Given the description of an element on the screen output the (x, y) to click on. 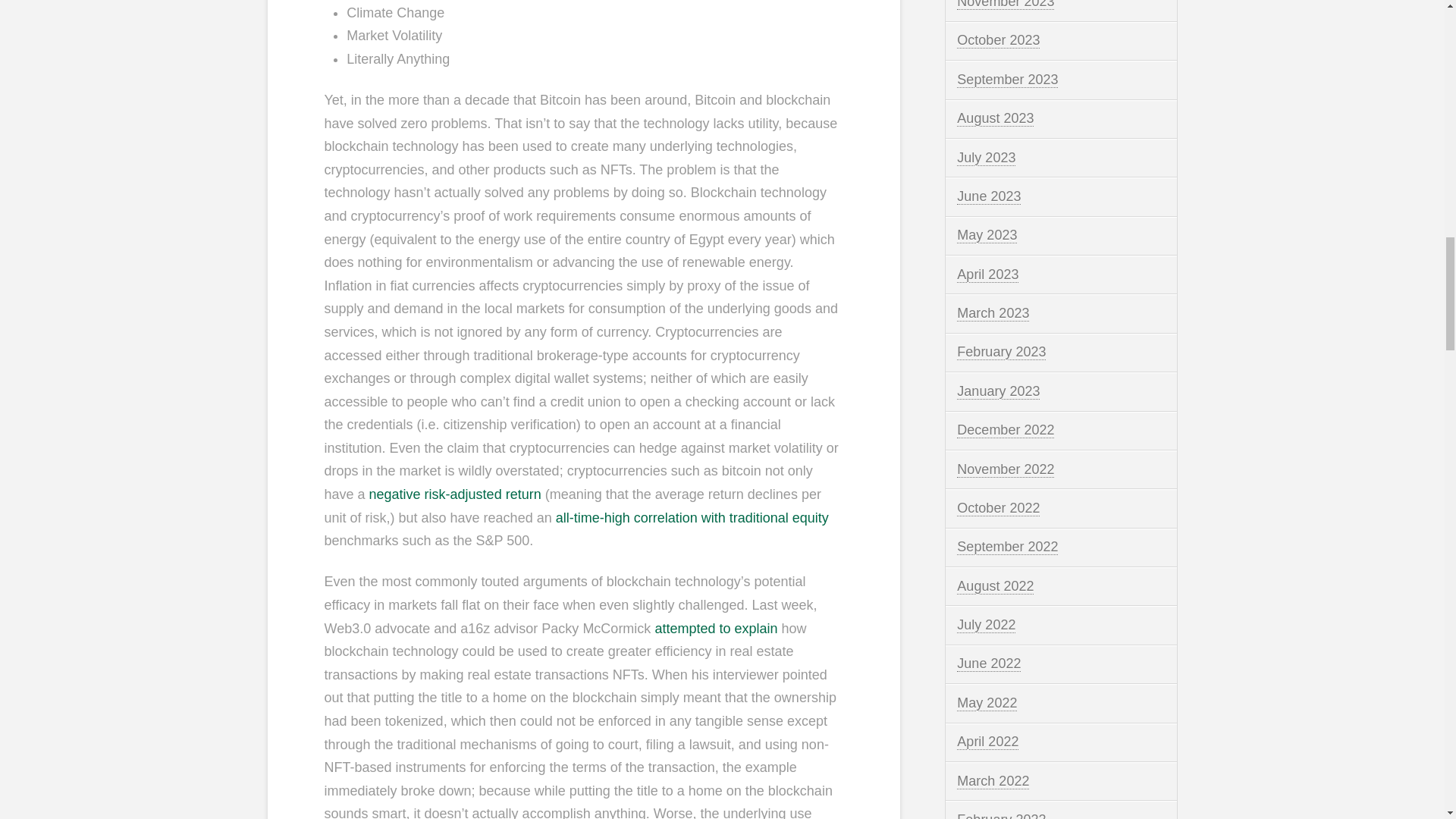
all-time-high correlation with traditional equity (692, 517)
negative risk-adjusted return (455, 494)
attempted to explain (715, 628)
